Given the description of an element on the screen output the (x, y) to click on. 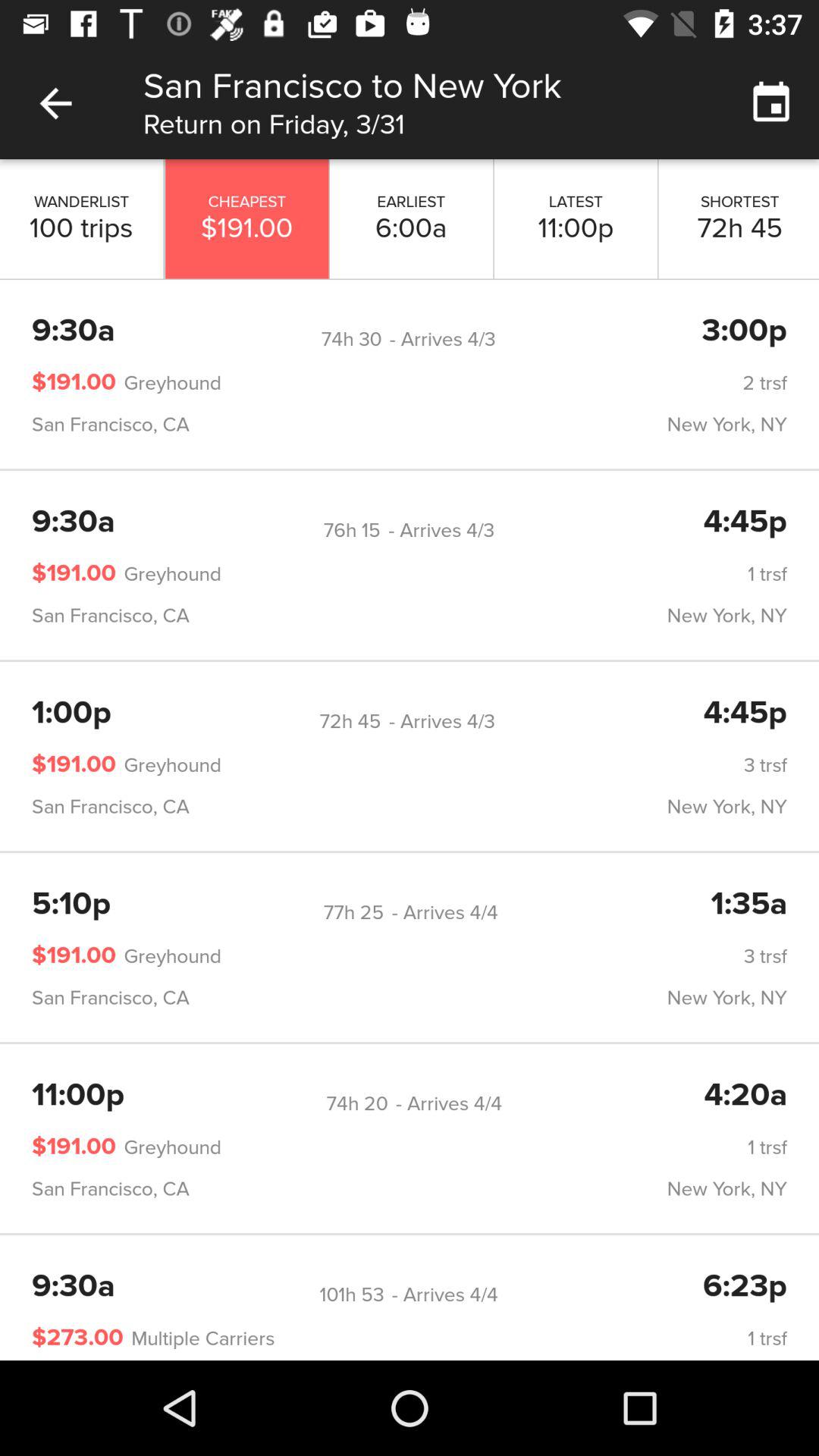
return to previous page (55, 103)
